Given the description of an element on the screen output the (x, y) to click on. 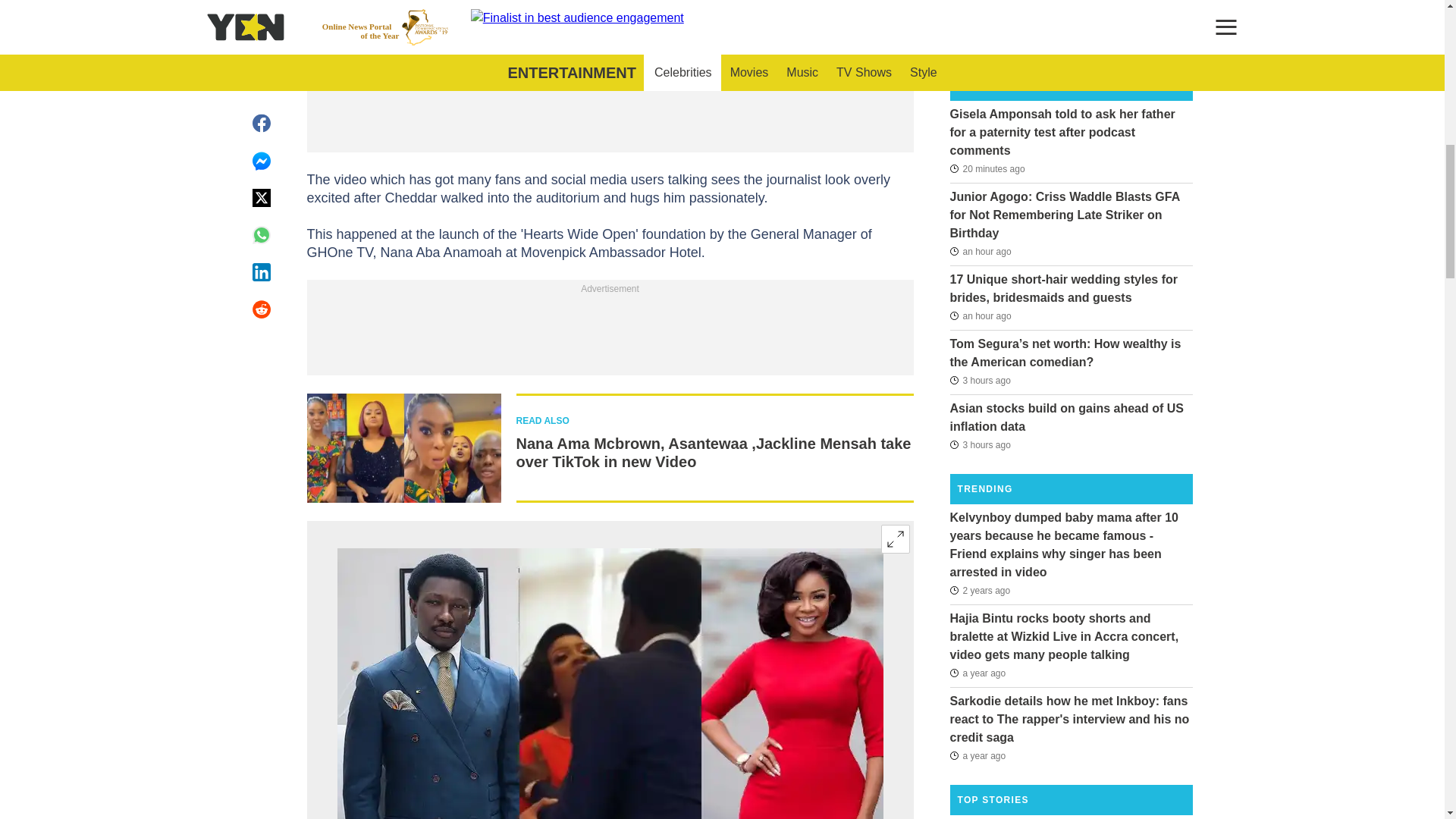
2024-08-13T02:51:44Z (979, 380)
2024-08-13T02:44:03Z (979, 443)
Expand image (895, 538)
2024-08-13T04:16:17Z (979, 315)
2022-12-12T13:23:39Z (977, 673)
2024-08-13T05:53:06Z (987, 167)
2022-02-23T11:37:50Z (979, 589)
2023-03-15T15:33:30Z (977, 755)
2024-08-13T05:02:12Z (979, 251)
